Given the description of an element on the screen output the (x, y) to click on. 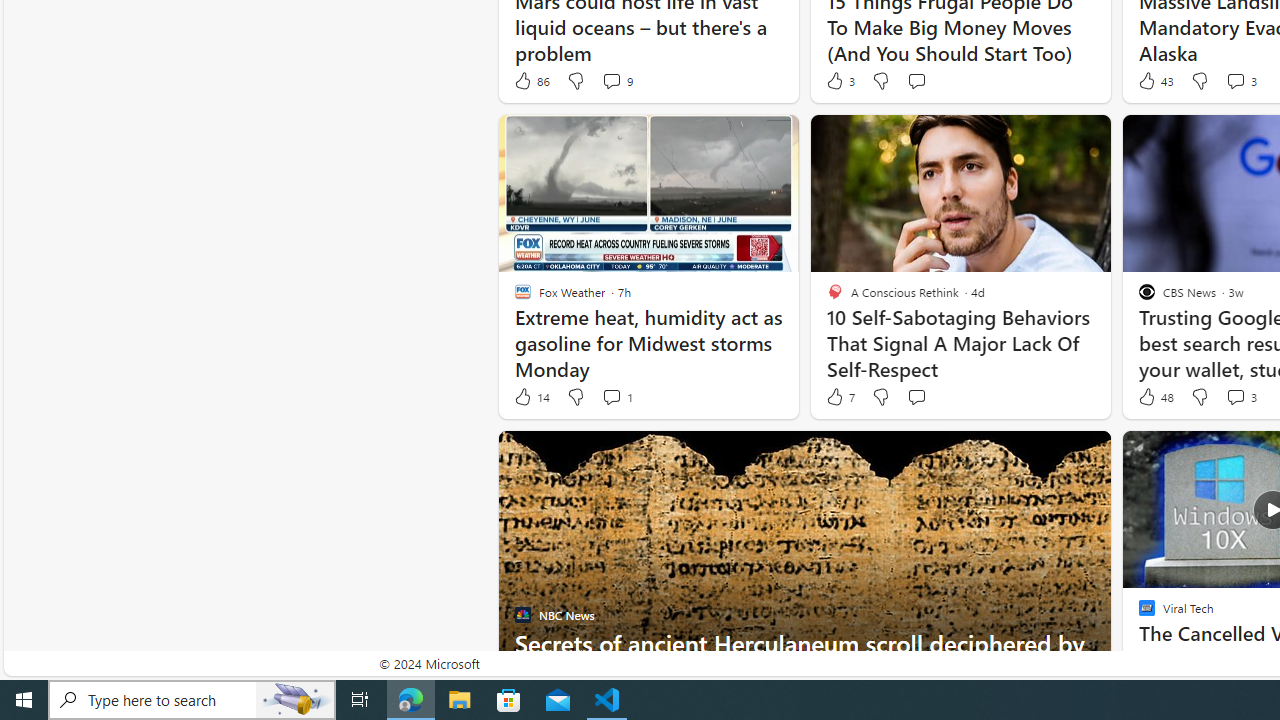
14 Like (531, 397)
43 Like (1154, 80)
Hide this story (1050, 454)
7 Like (839, 397)
View comments 9 Comment (611, 80)
86 Like (531, 80)
48 Like (1154, 397)
View comments 3 Comment (1240, 397)
